Given the description of an element on the screen output the (x, y) to click on. 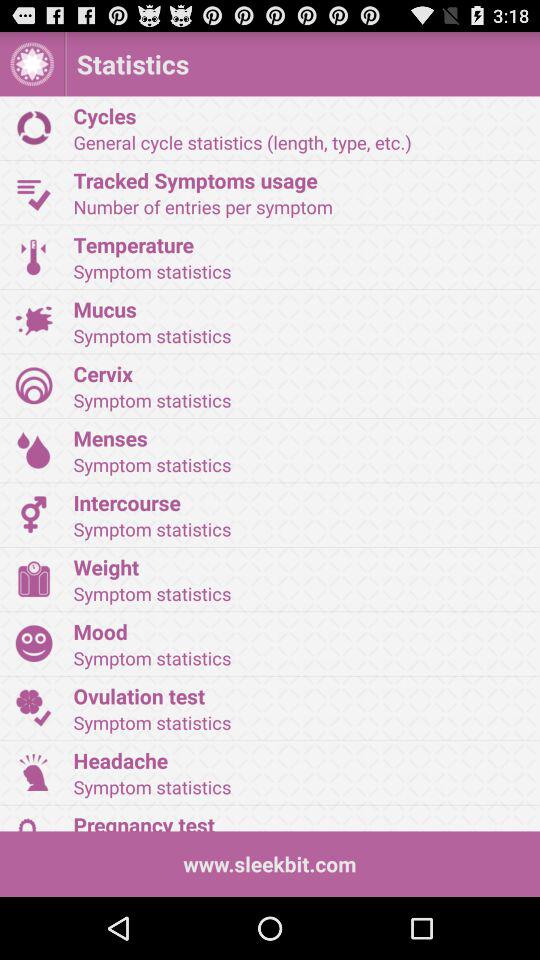
scroll to the pregnancy test icon (299, 820)
